Given the description of an element on the screen output the (x, y) to click on. 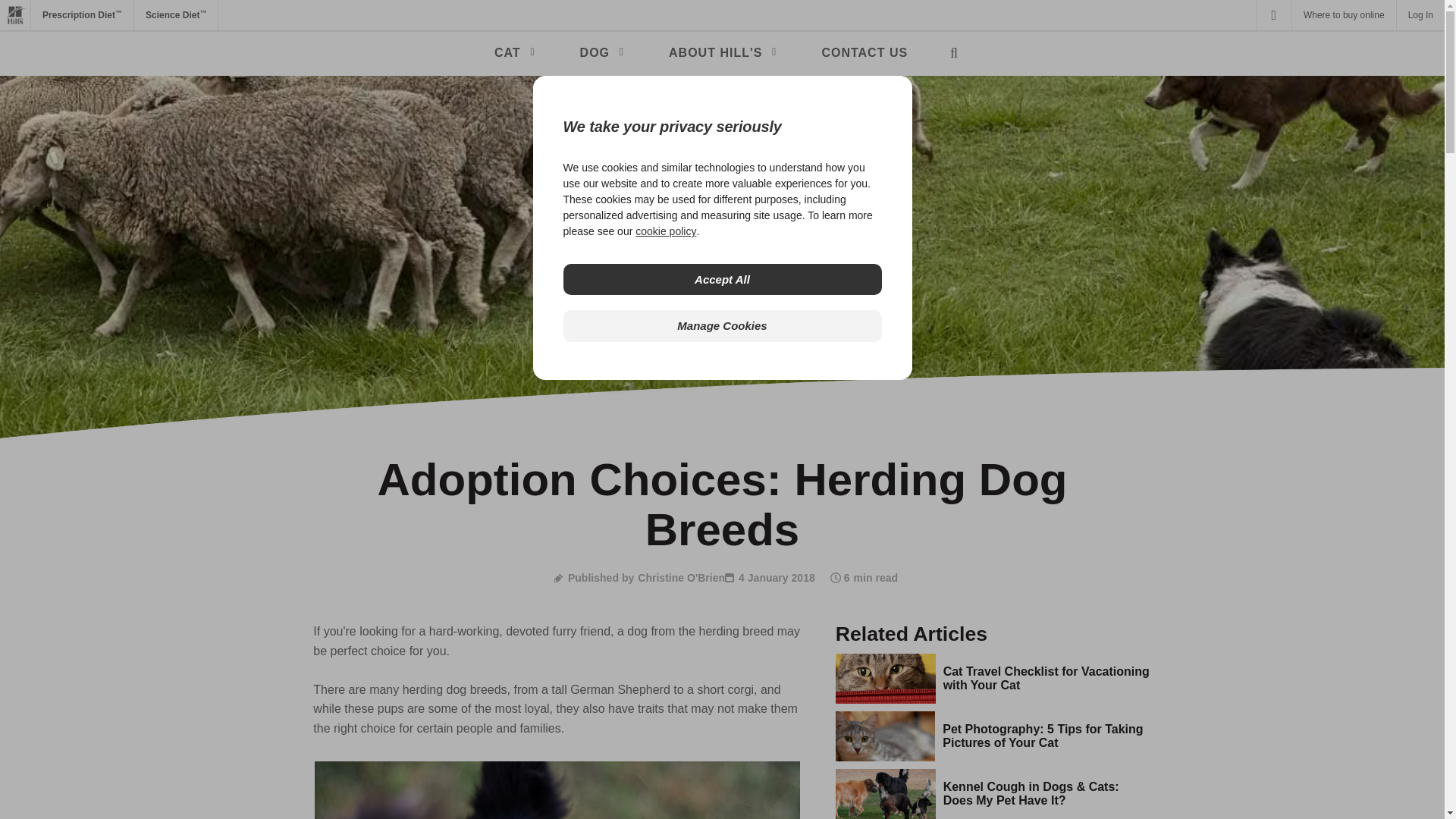
cookie policy (664, 231)
black-and-white-border-collie-looking-up (556, 790)
Manage Cookies (721, 325)
Accept All (721, 278)
